Given the description of an element on the screen output the (x, y) to click on. 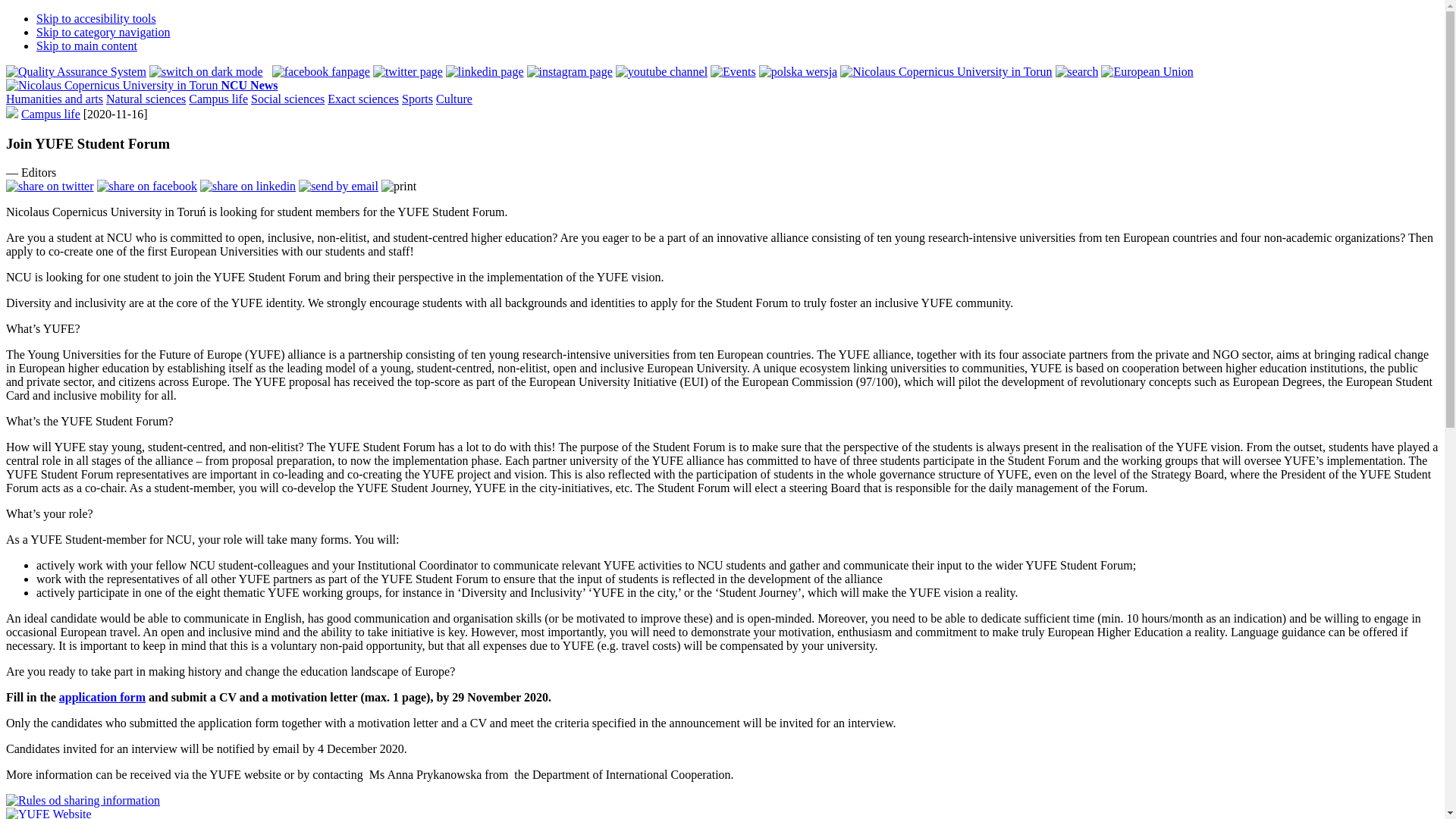
Sports (416, 98)
Skip to main content (86, 45)
Skip to category navigation (103, 31)
Logo Nicolaus Copernicus University in Torun (110, 85)
application form (102, 697)
Natural sciences (146, 98)
Campus life (50, 113)
Exact sciences (362, 98)
Skip to accesibility tools (95, 18)
Social sciences (287, 98)
Culture (453, 98)
Campus life (218, 98)
Humanities and arts (54, 98)
NCU News (141, 84)
